Given the description of an element on the screen output the (x, y) to click on. 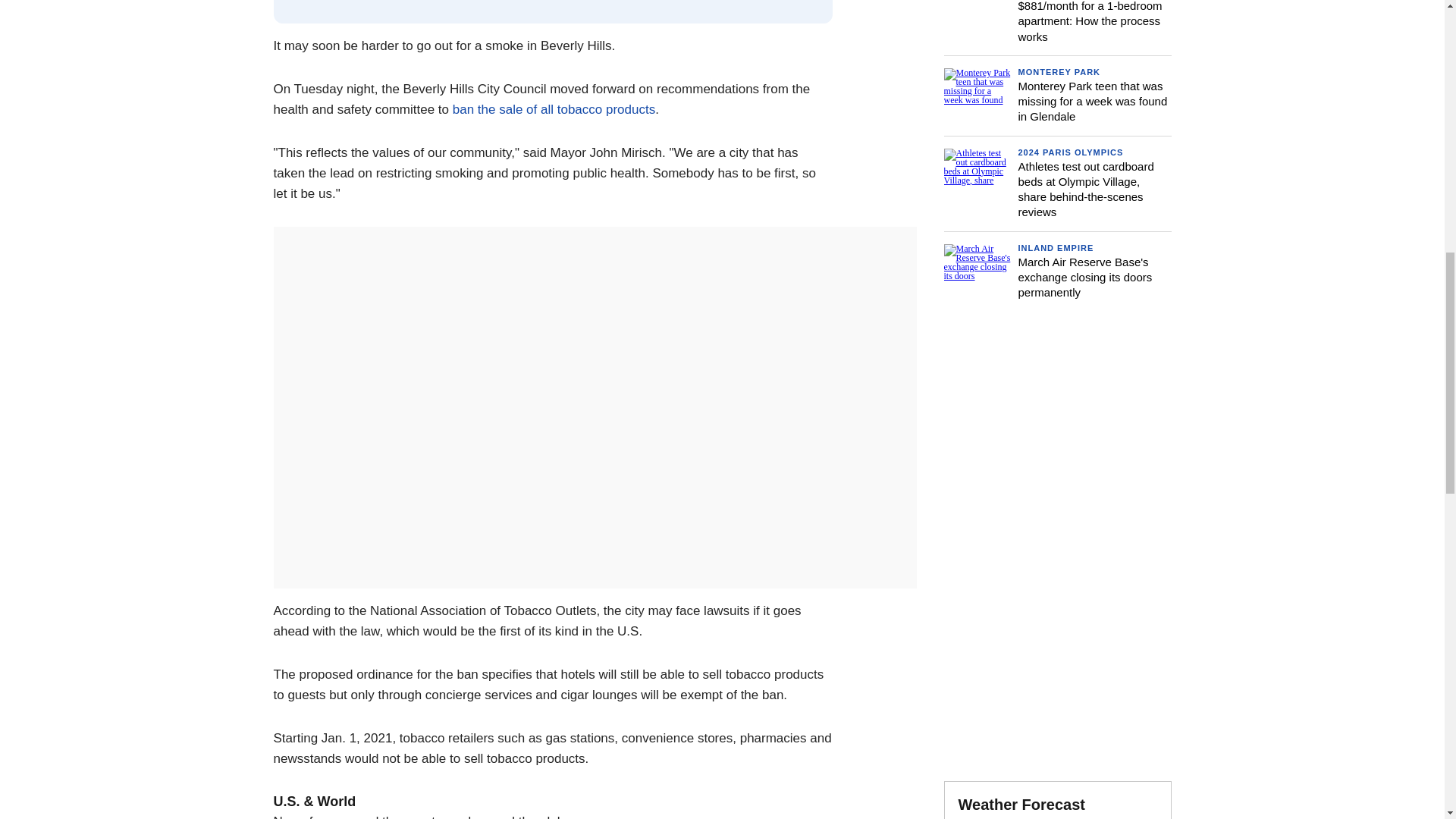
ban the sale of all tobacco products (551, 109)
